Given the description of an element on the screen output the (x, y) to click on. 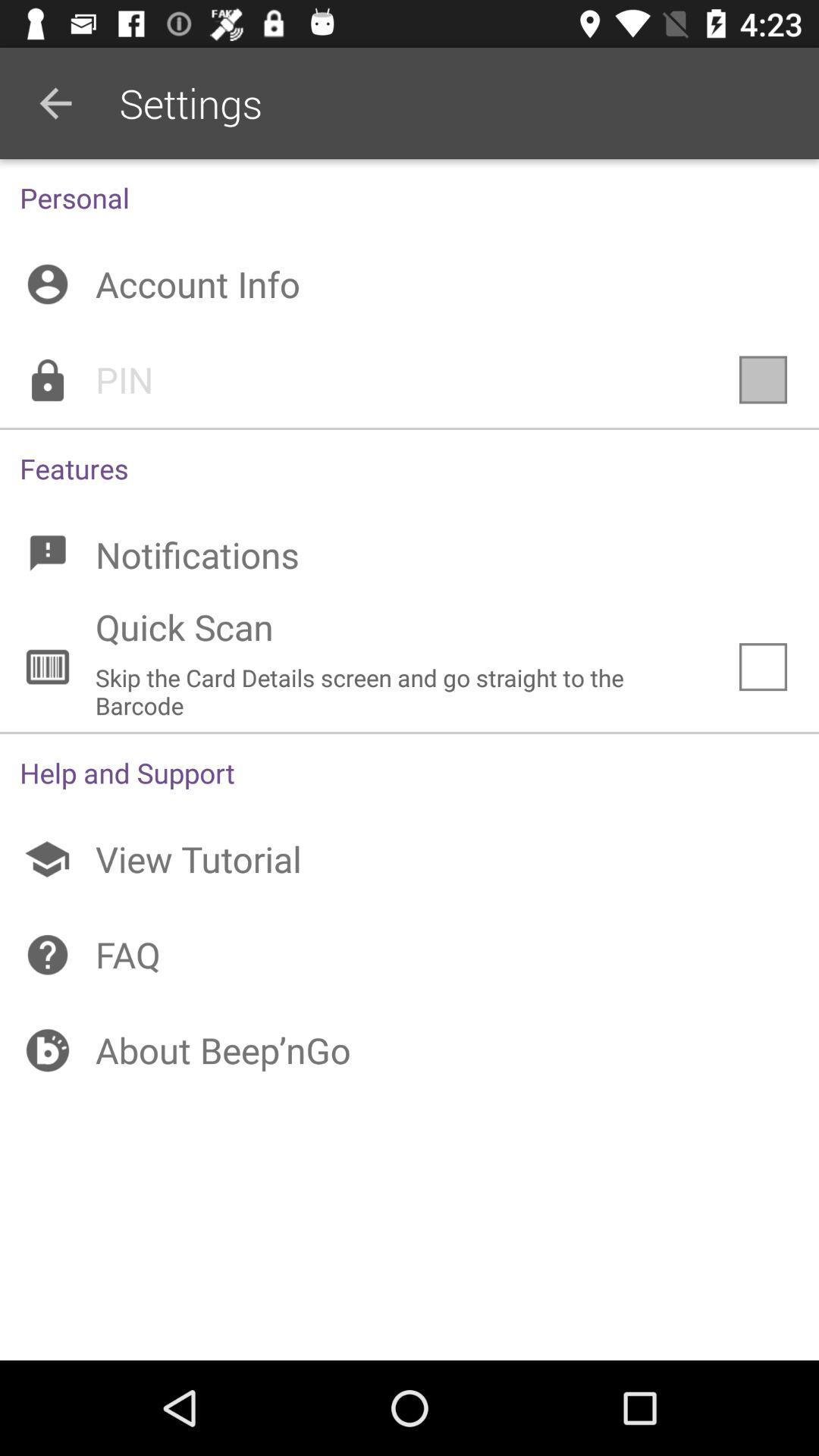
tap icon above the pin item (409, 284)
